Given the description of an element on the screen output the (x, y) to click on. 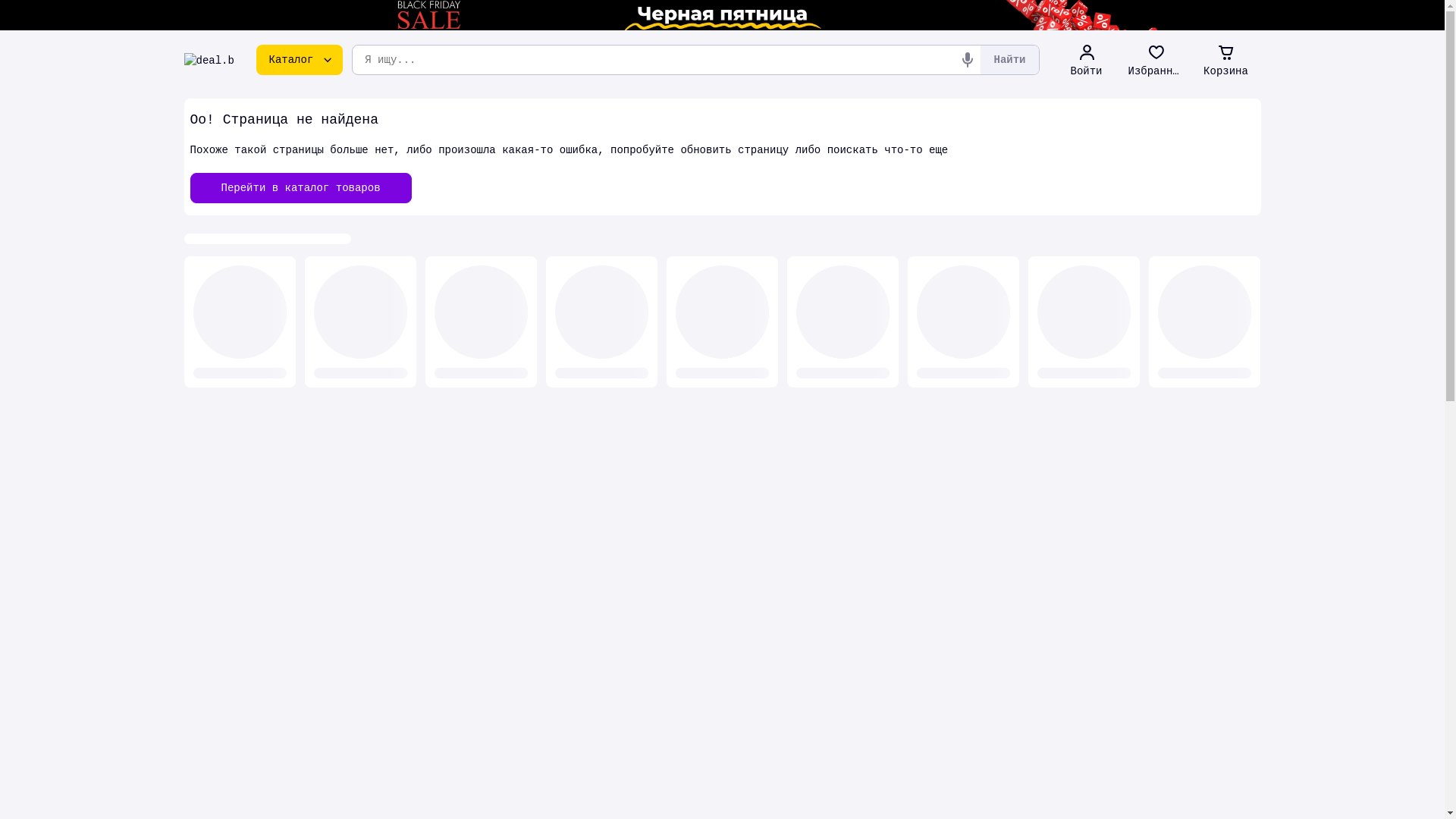
deal.by Element type: hover (208, 59)
